Given the description of an element on the screen output the (x, y) to click on. 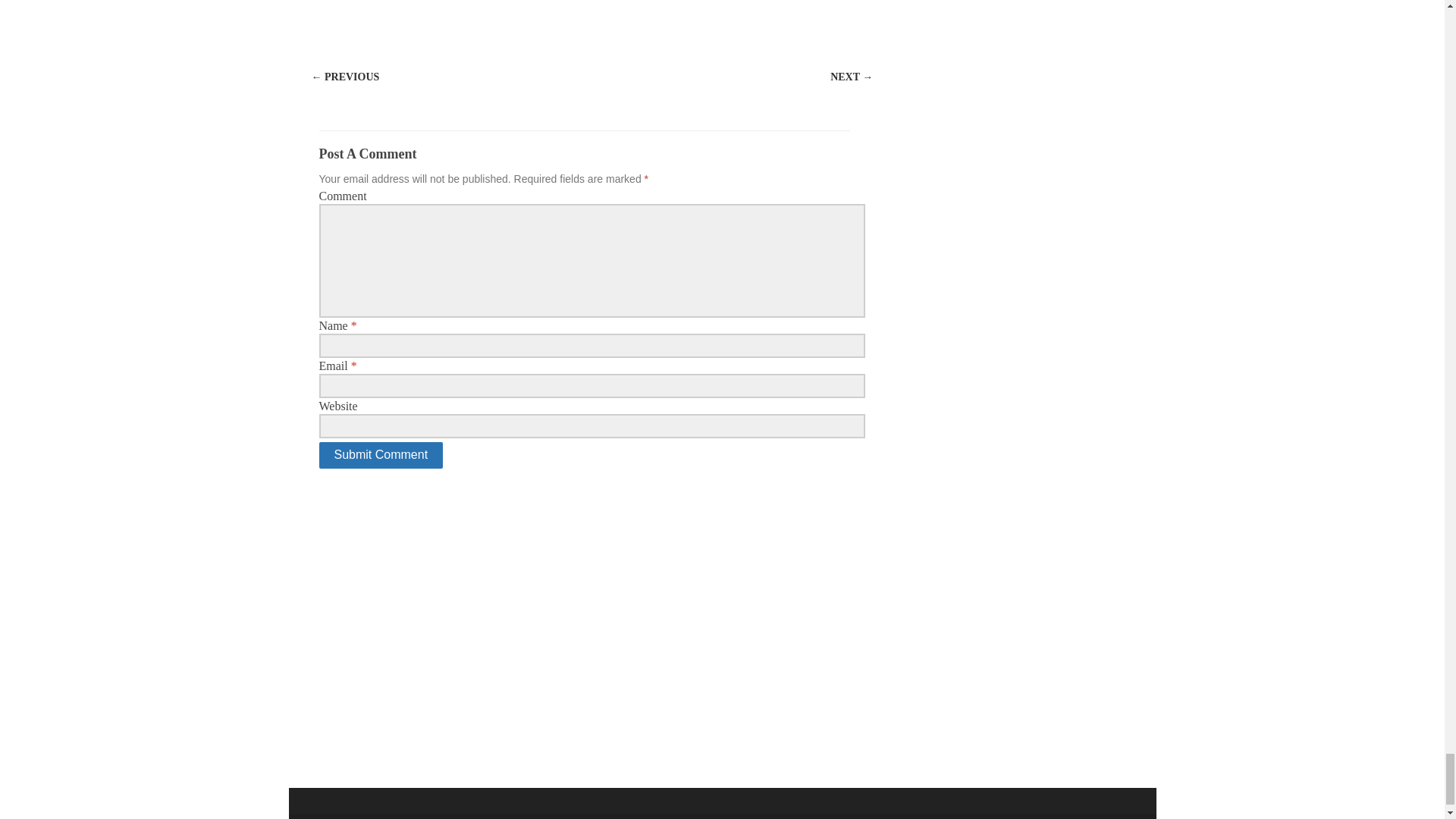
Submit Comment (380, 455)
